Given the description of an element on the screen output the (x, y) to click on. 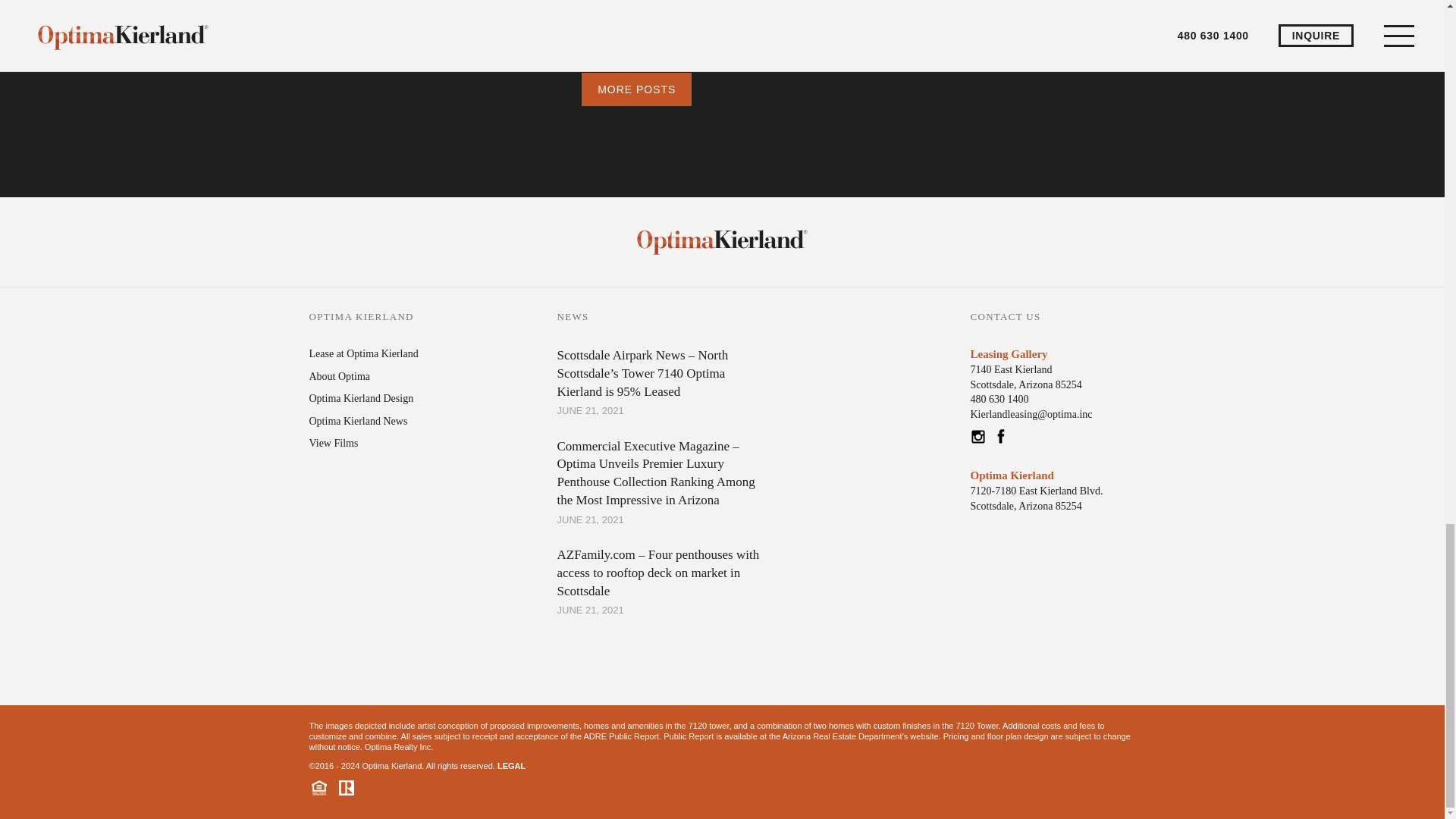
Optima Kierland News (357, 420)
Optima Kierland Design (360, 398)
Lease at Optima Kierland (363, 353)
View Films (333, 442)
About Optima (339, 376)
